Given the description of an element on the screen output the (x, y) to click on. 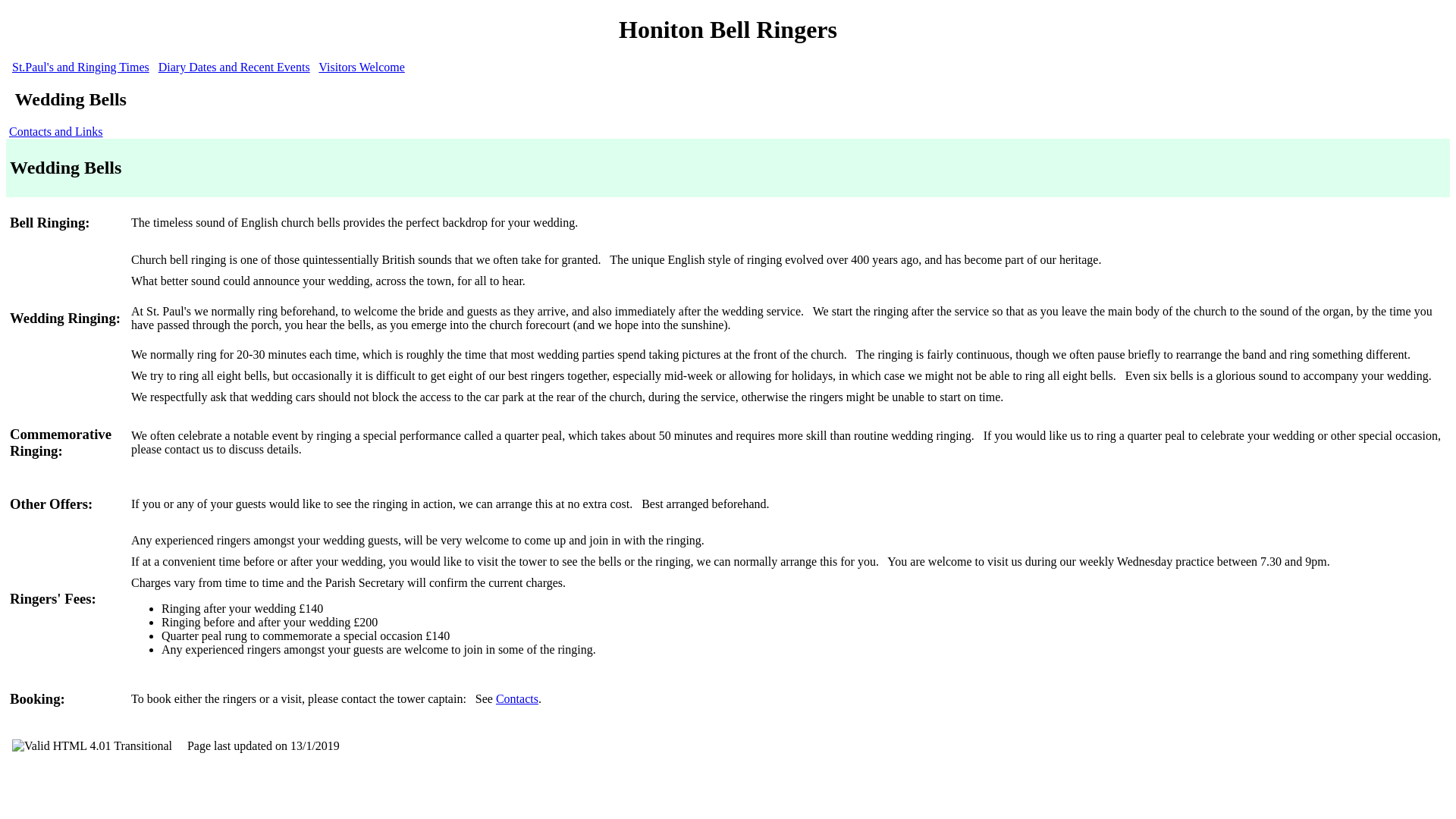
St.Paul's and Ringing Times (80, 66)
Contacts and Links (55, 131)
Visitors Welcome (361, 66)
Diary Dates and Recent Events (234, 66)
Contacts (517, 698)
